Given the description of an element on the screen output the (x, y) to click on. 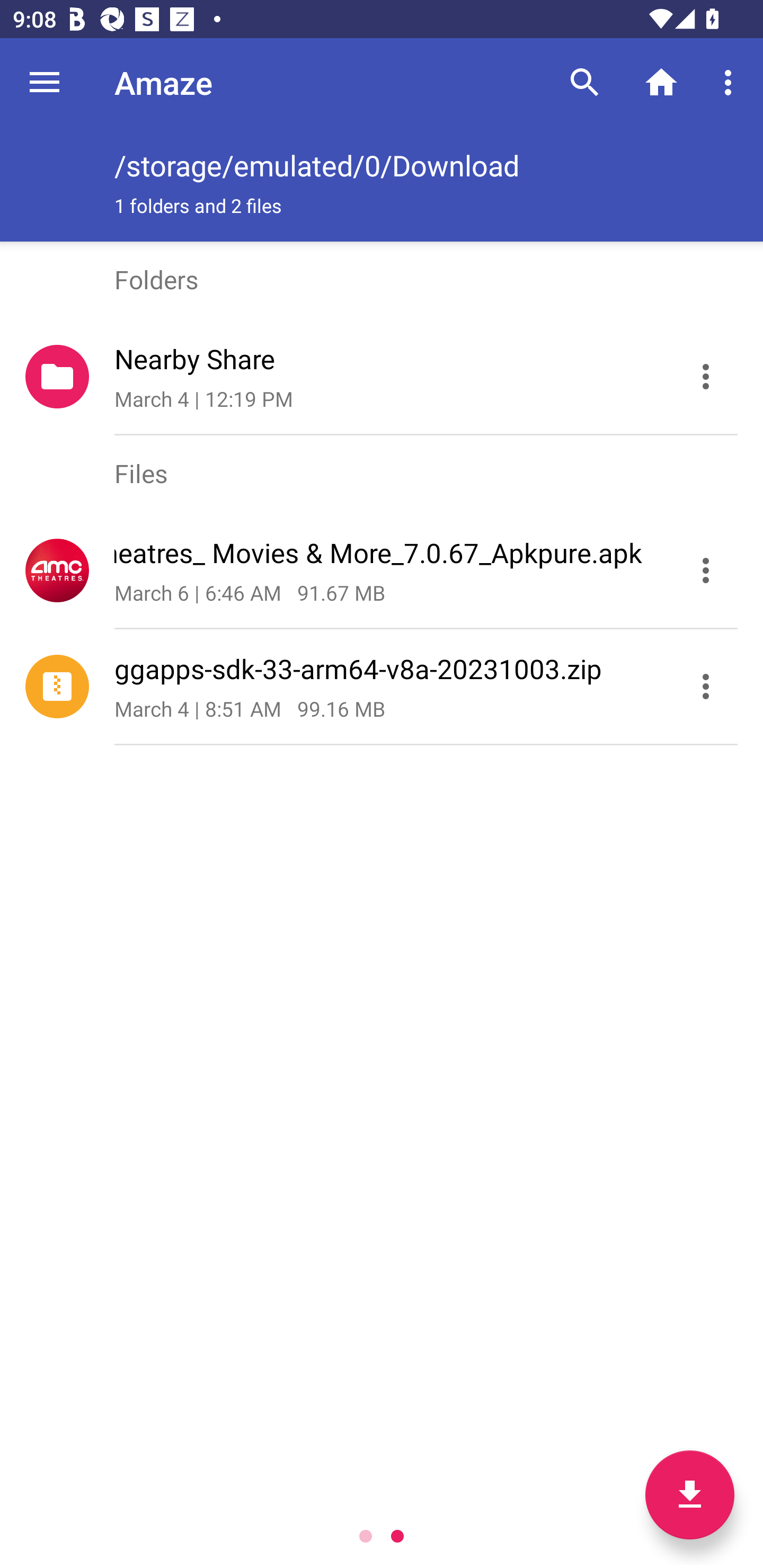
Navigate up (44, 82)
Search (585, 81)
Home (661, 81)
More options (731, 81)
Nearby Share March 4 | 12:19 PM (381, 376)
